Given the description of an element on the screen output the (x, y) to click on. 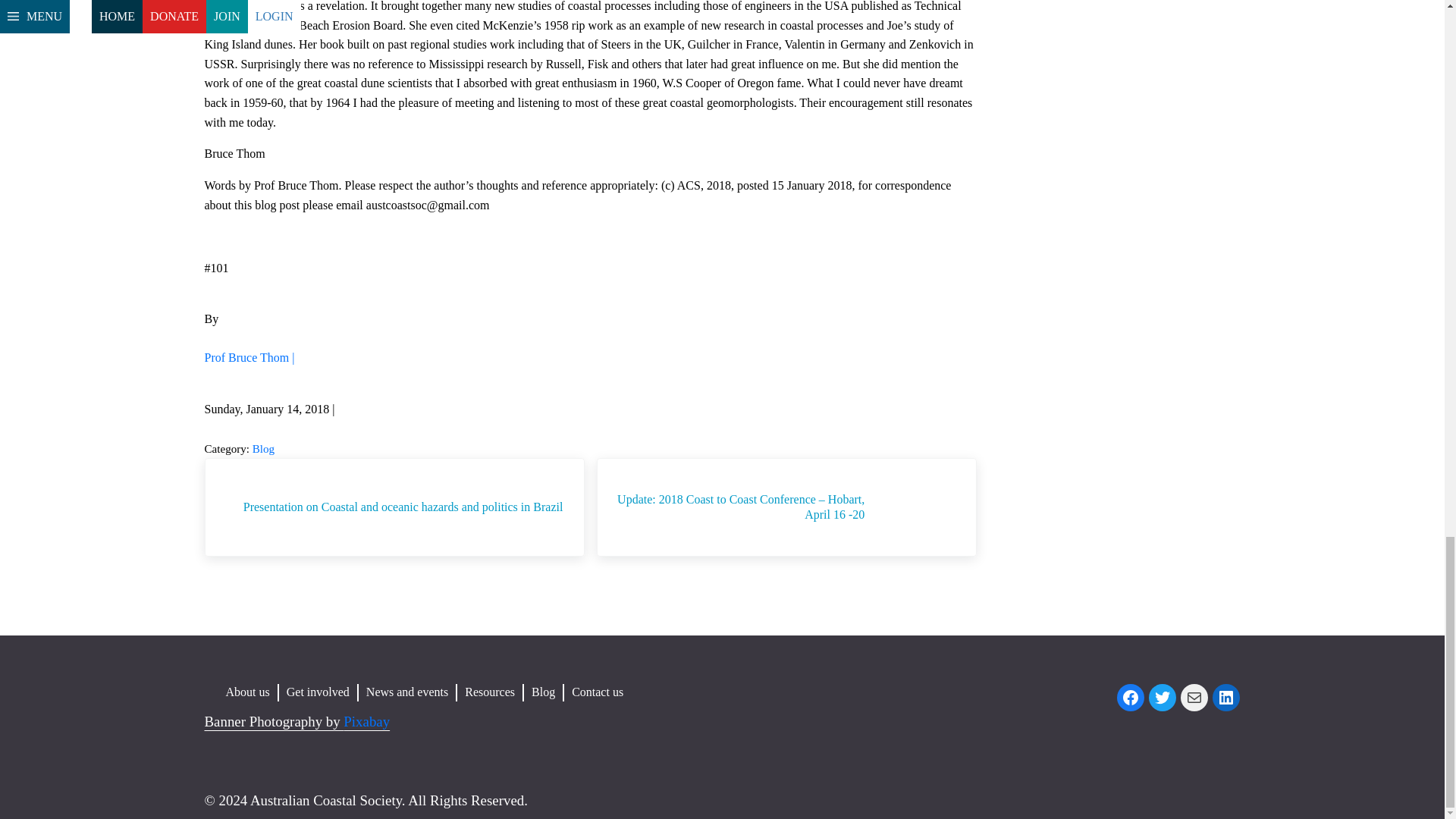
Prof Bruce Thom (250, 357)
